Given the description of an element on the screen output the (x, y) to click on. 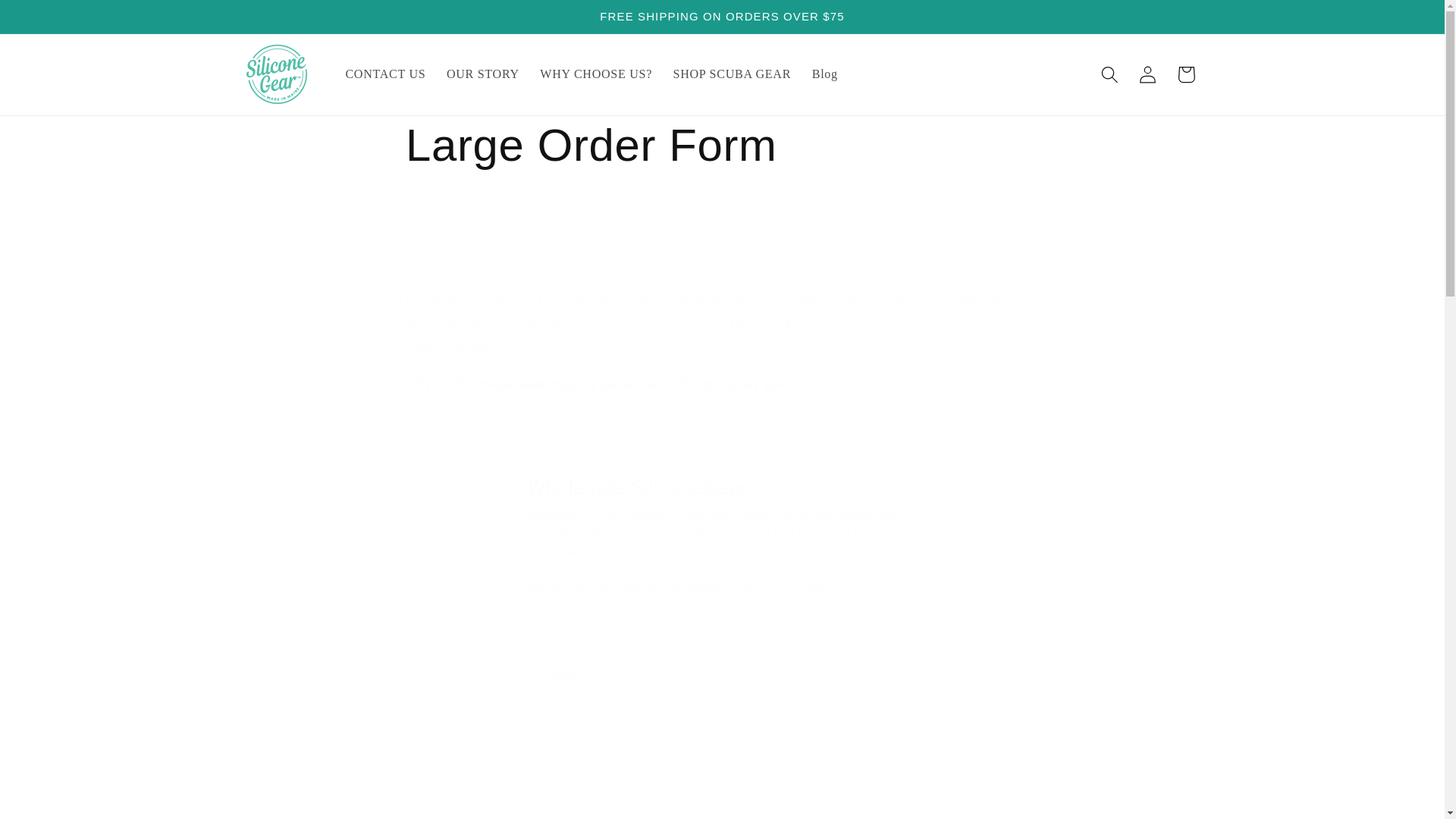
SHOP SCUBA GEAR (732, 74)
Skip to content (52, 20)
Log in (1147, 74)
OUR STORY (482, 74)
WHY CHOOSE US? (595, 74)
CONTACT US (385, 74)
Blog (825, 74)
Large Order Form (722, 145)
Cart (1186, 74)
